Given the description of an element on the screen output the (x, y) to click on. 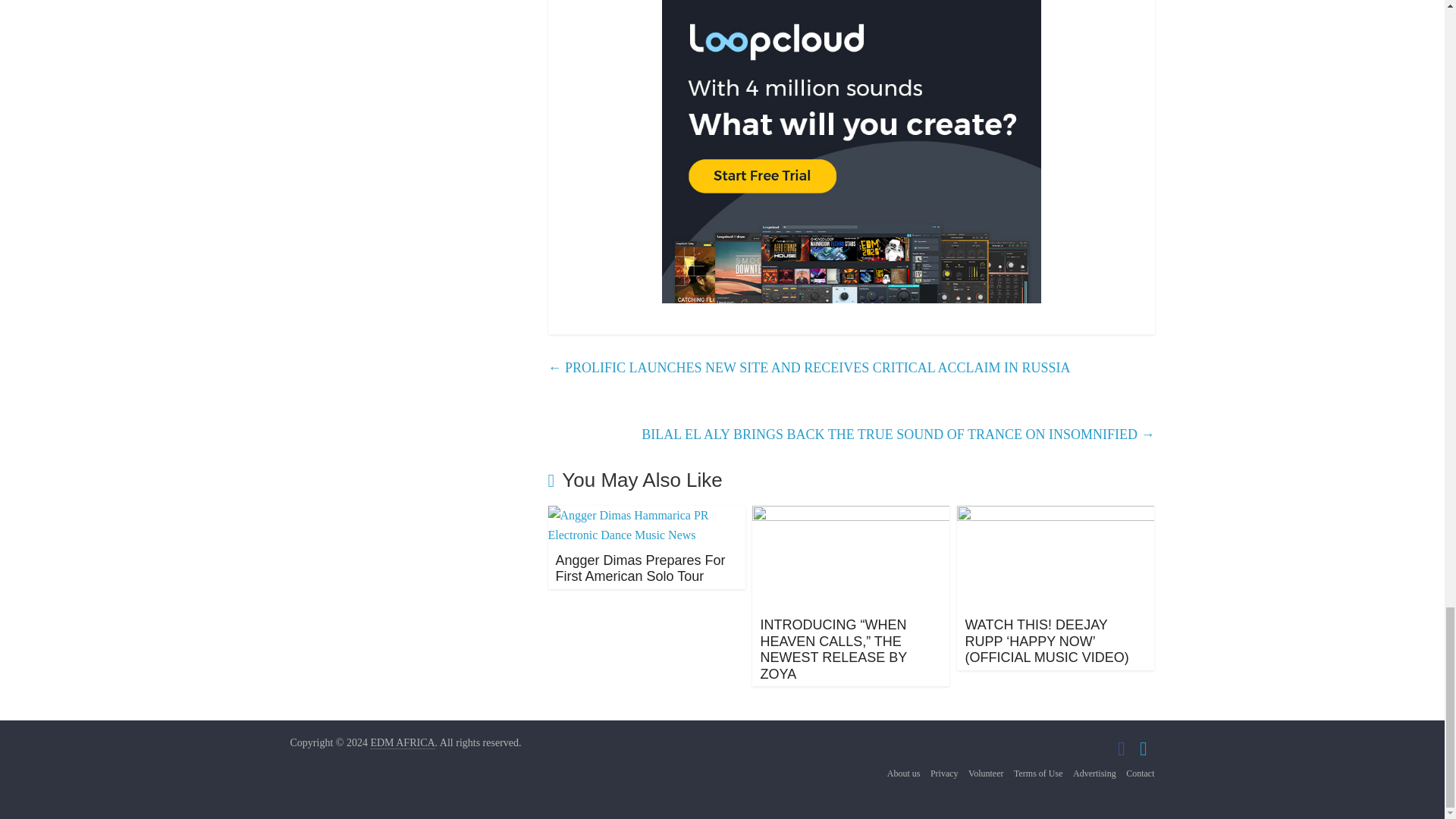
Angger Dimas Prepares For First American Solo Tour (646, 514)
Angger Dimas Prepares For First American Solo Tour (640, 568)
